Given the description of an element on the screen output the (x, y) to click on. 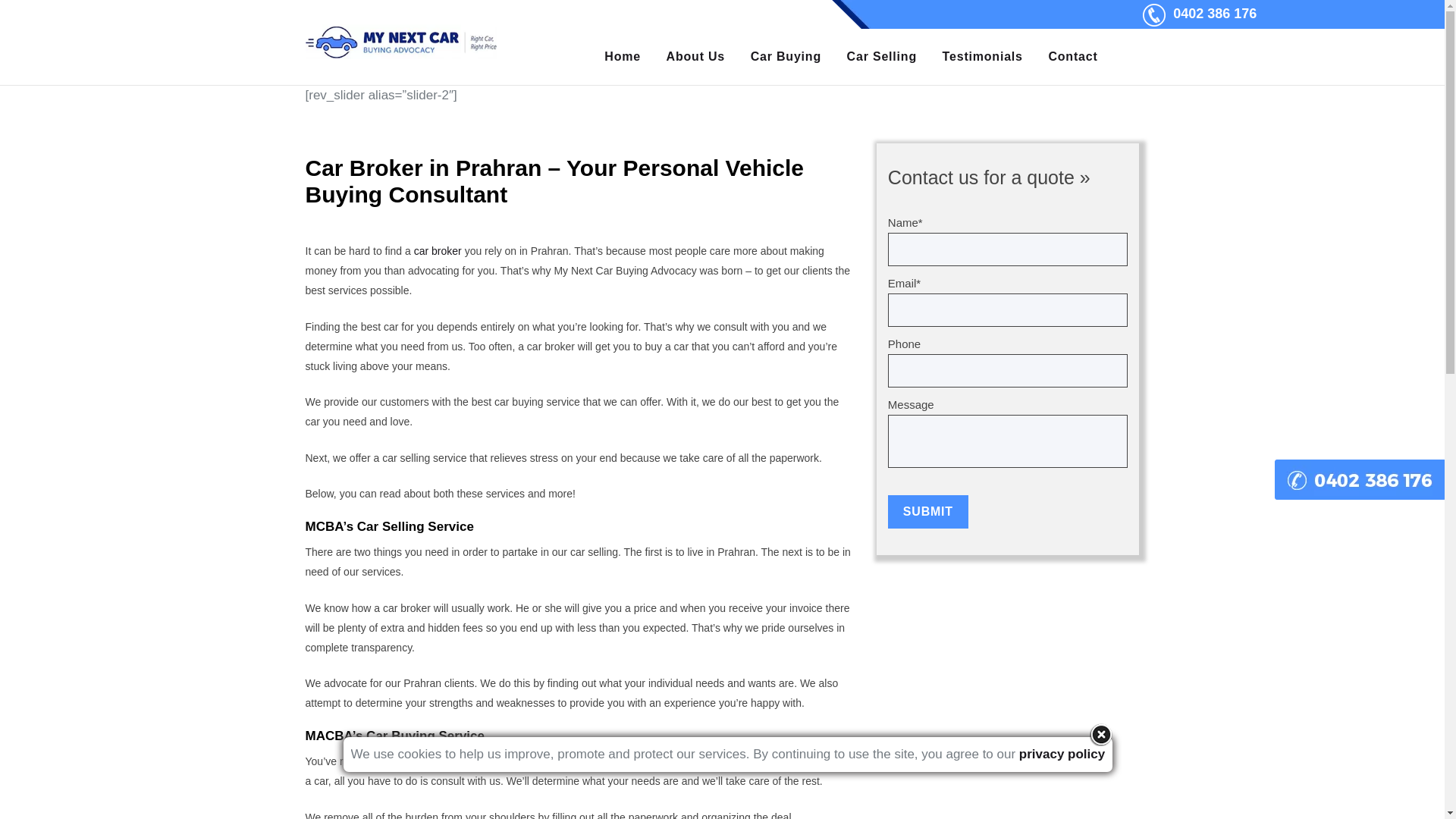
About Us Element type: text (695, 56)
Close Element type: hover (1100, 734)
Car Selling Element type: text (881, 56)
privacy policy Element type: text (1061, 753)
car broker Element type: text (437, 250)
0402 386 176 Element type: text (1214, 13)
Car Buying Element type: text (785, 56)
Testimonials Element type: text (982, 56)
Contact Element type: text (1072, 56)
Submit Element type: text (928, 511)
Home Element type: text (622, 56)
